Given the description of an element on the screen output the (x, y) to click on. 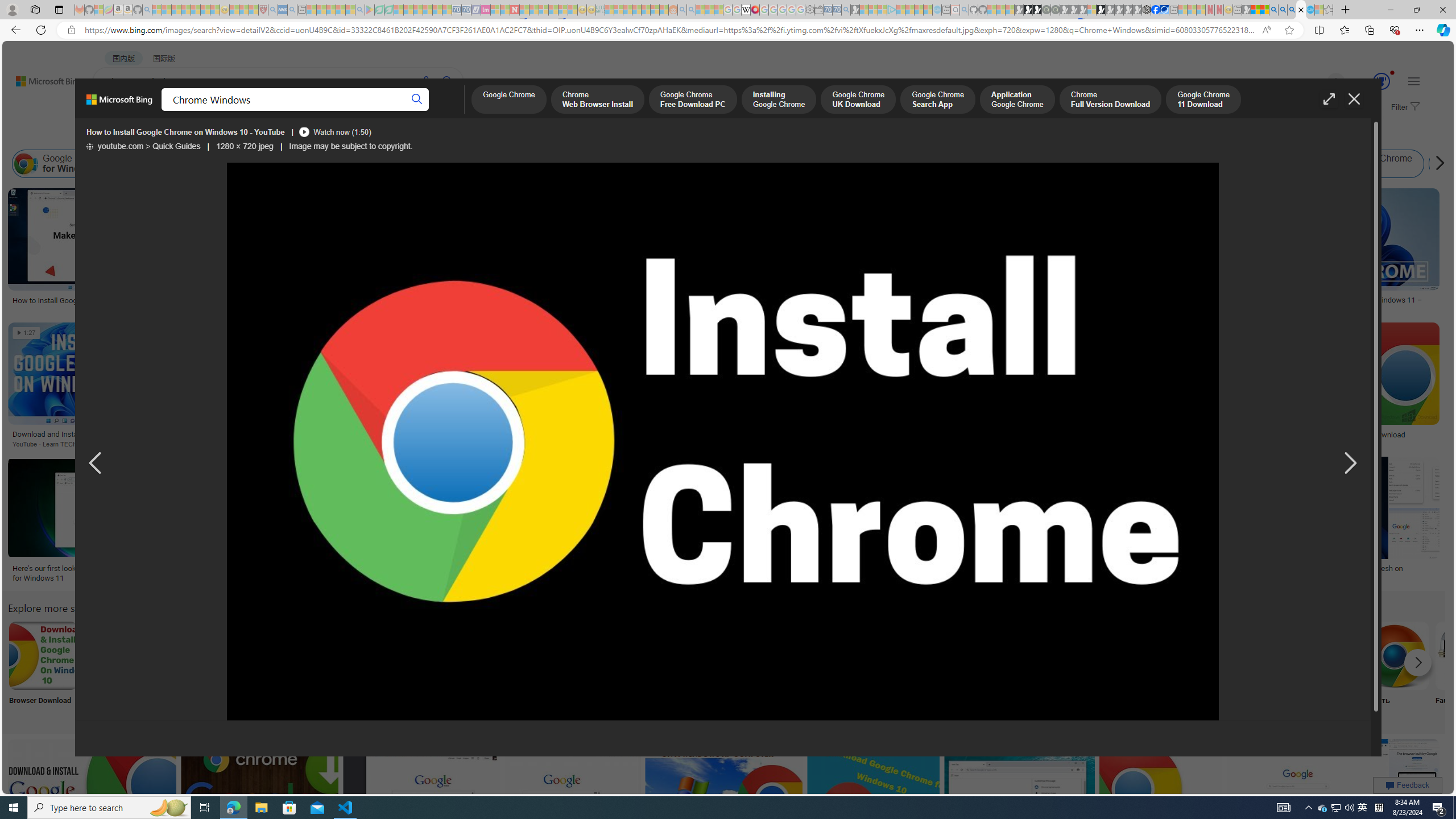
How To Download And Install Google Chrome On Windows 10 (623, 438)
License (378, 135)
Windows-10-Google-Chrome - Windows ModeSave (630, 521)
Get Google Chrome (944, 654)
Google Chrome - Windows 10 Download (1339, 434)
Future Focus Report 2024 - Sleeping (1054, 9)
Jobs - lastminute.com Investor Portal - Sleeping (485, 9)
Chrome apk+Download apk+Download (118, 669)
google - Search - Sleeping (359, 9)
How to Install Google Chrome on Windows 11 (448, 434)
